Given the description of an element on the screen output the (x, y) to click on. 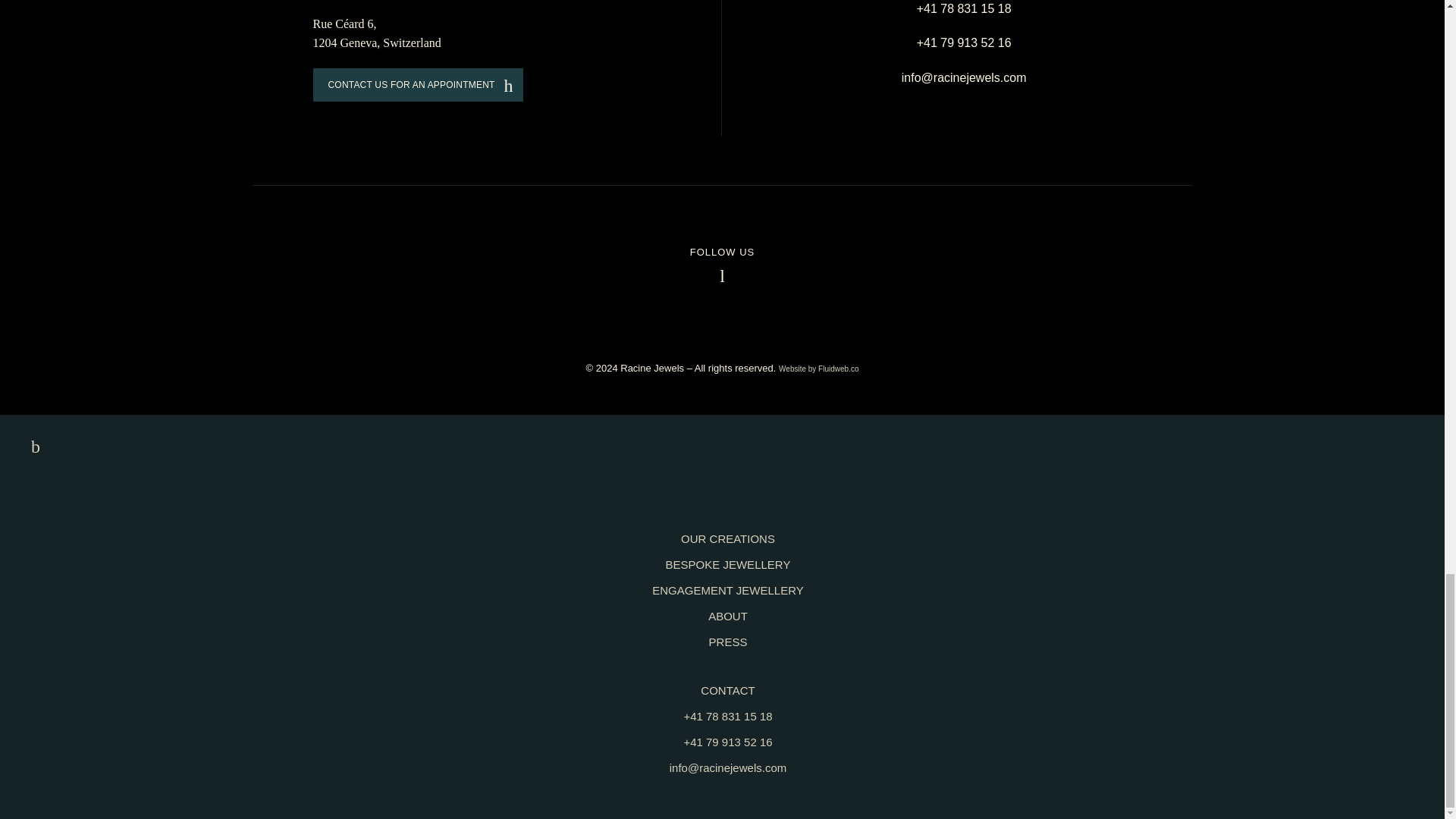
Website by Fluidweb.co (818, 368)
Close Menu (31, 446)
CONTACT US FOR AN APPOINTMENT (417, 84)
